Given the description of an element on the screen output the (x, y) to click on. 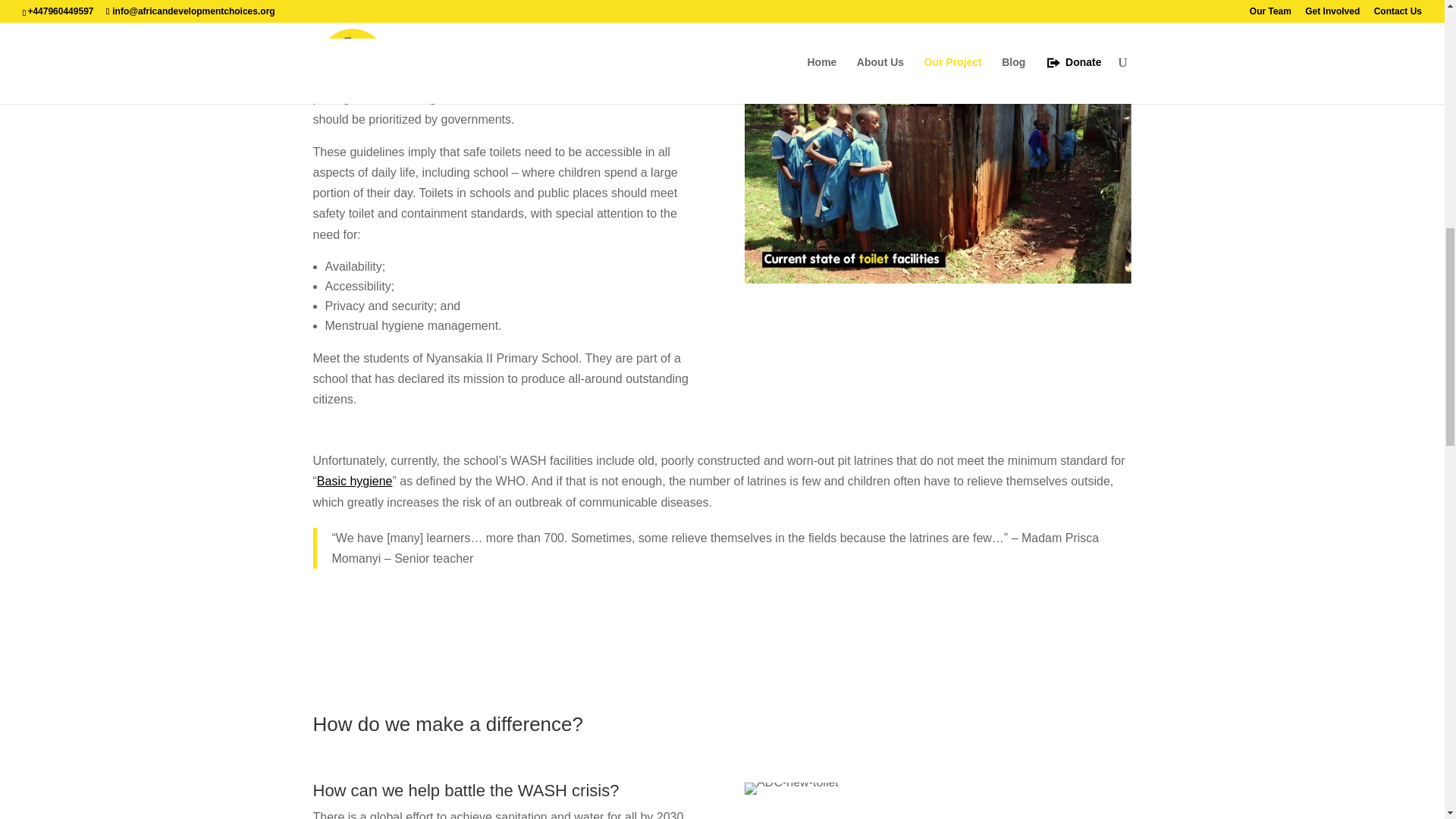
Basic hygiene (355, 665)
WHO (418, 241)
Nyansakia II Primary School Project (722, 56)
